Given the description of an element on the screen output the (x, y) to click on. 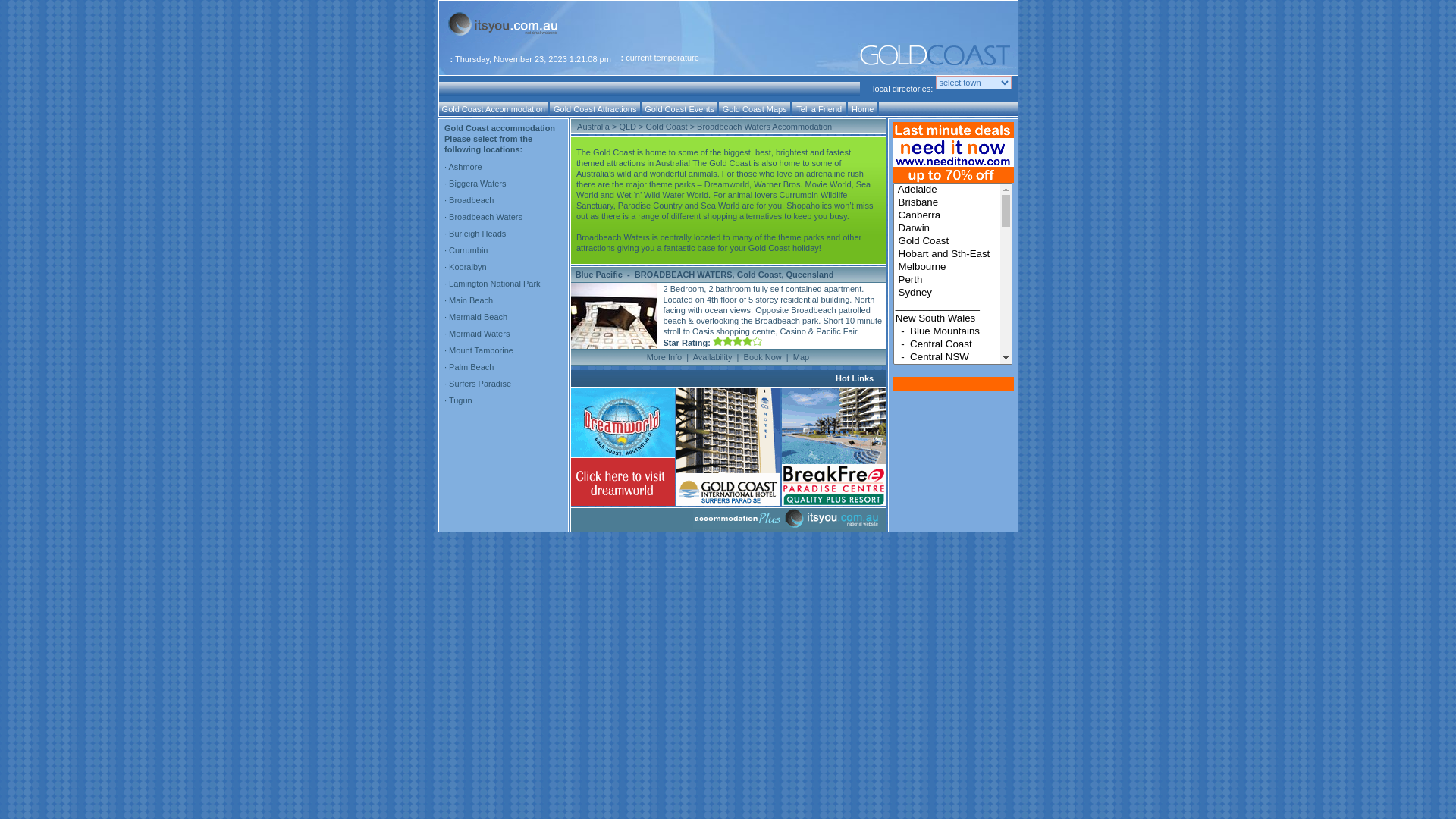
Gold Coast Accommodation Element type: text (493, 108)
Gold Coast Attractions Element type: text (594, 108)
Tell a Friend Element type: text (818, 108)
Availability Element type: text (712, 356)
Map Element type: text (801, 356)
Book Now Element type: text (762, 356)
Gold Coast Events Element type: text (679, 108)
Gold Coast Maps Element type: text (754, 108)
current temperature Element type: text (662, 57)
Home Element type: text (862, 108)
More Info Element type: text (663, 356)
